Given the description of an element on the screen output the (x, y) to click on. 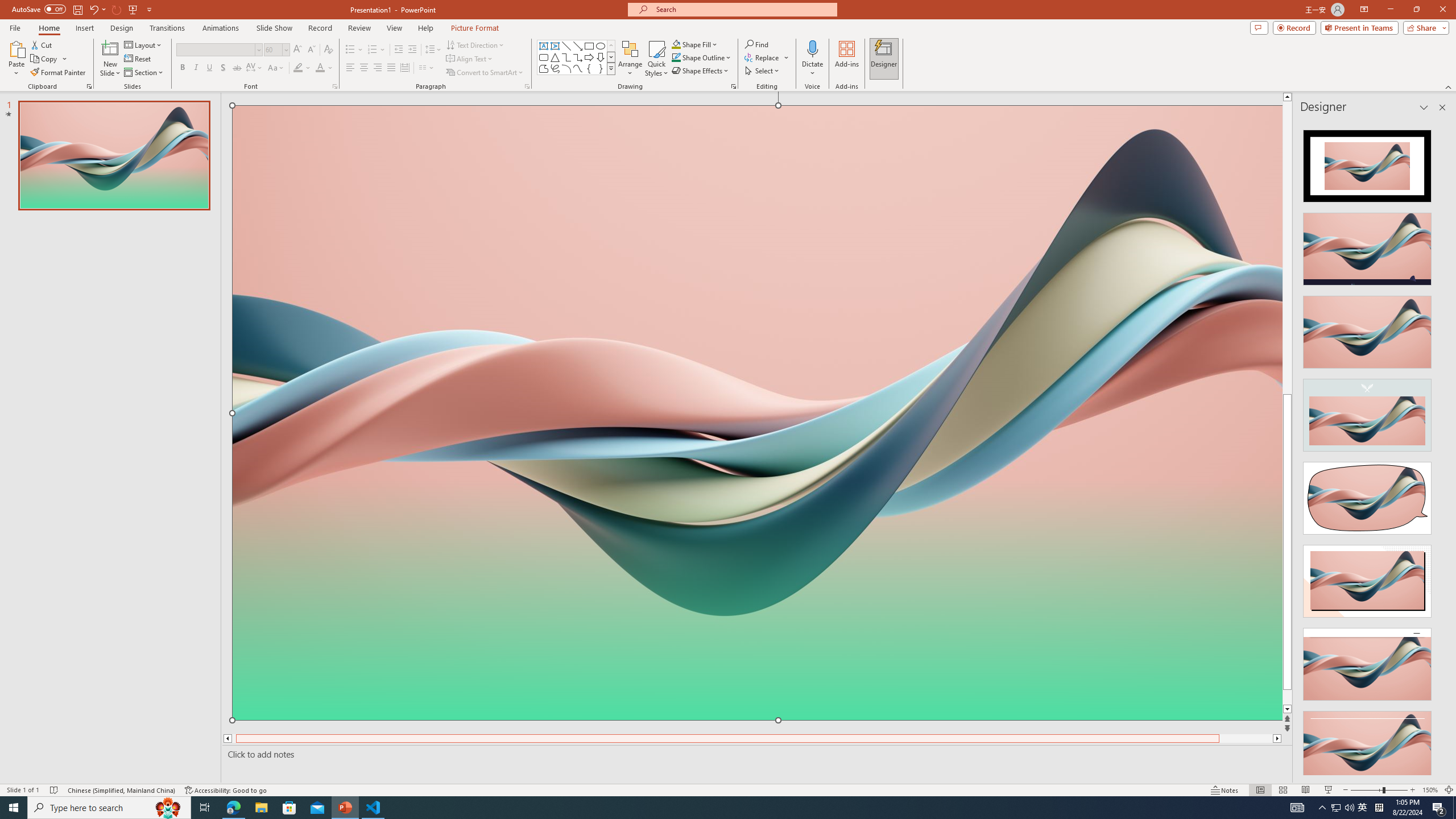
Decorative Locked (757, 579)
